Given the description of an element on the screen output the (x, y) to click on. 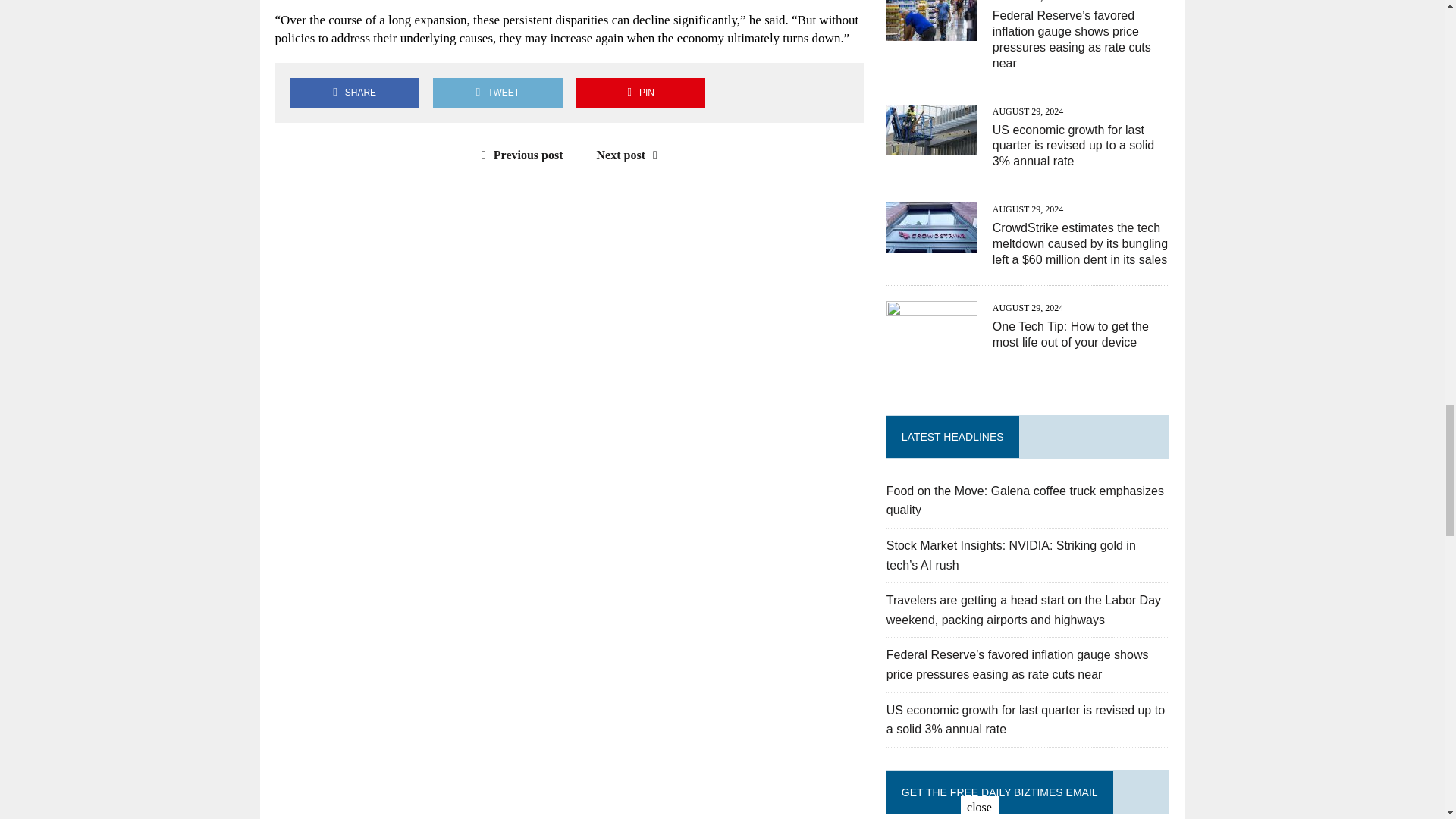
Previous post (518, 154)
Pin This Post (640, 92)
Share on Facebook (354, 92)
SHARE (354, 92)
Next post (630, 154)
TWEET (497, 92)
Tweet This Post (497, 92)
PIN (640, 92)
